Given the description of an element on the screen output the (x, y) to click on. 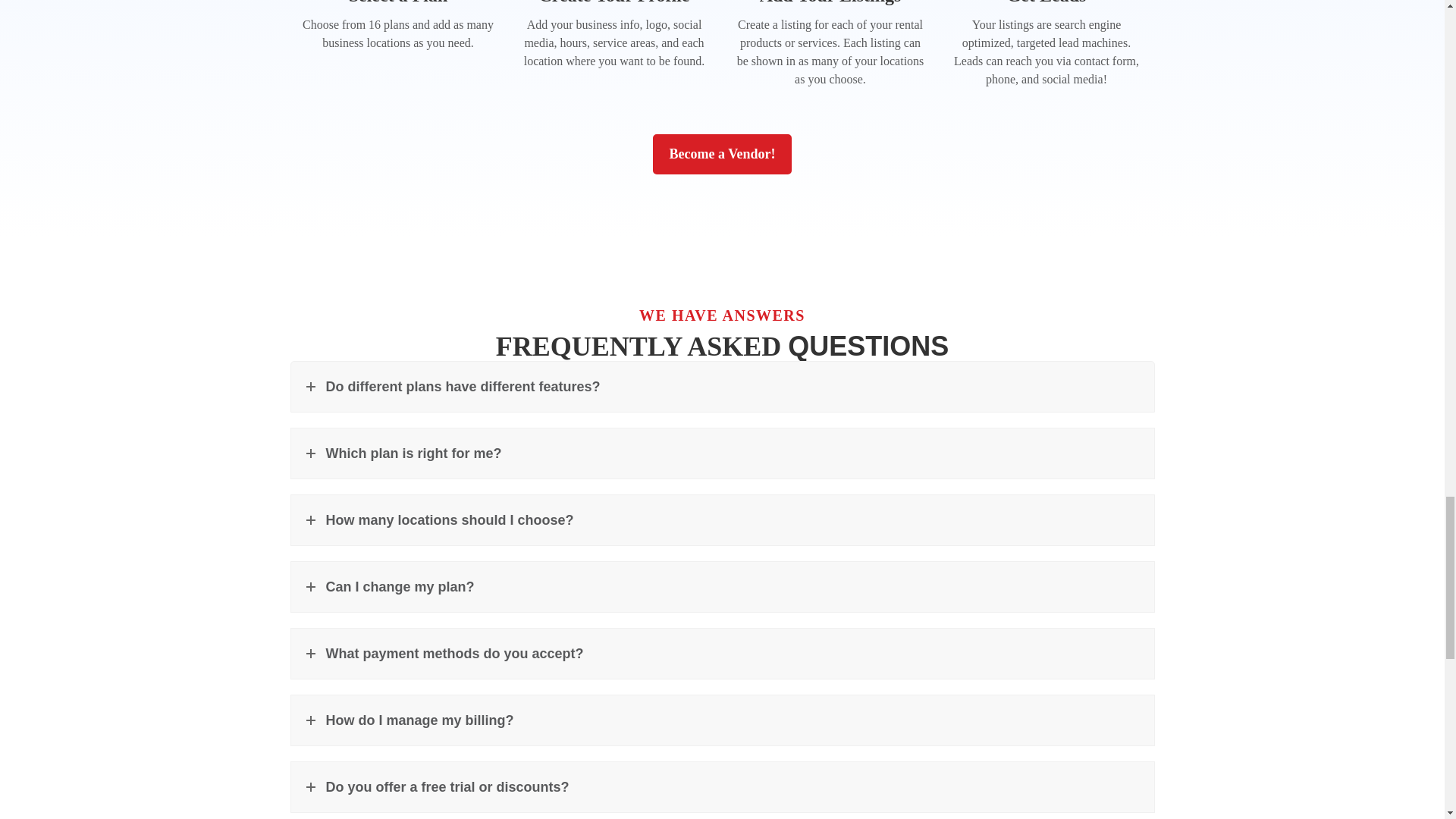
Which plan is right for me? (722, 453)
Do different plans have different features? (722, 386)
Become a Vendor! (722, 154)
How many locations should I choose? (722, 520)
